Given the description of an element on the screen output the (x, y) to click on. 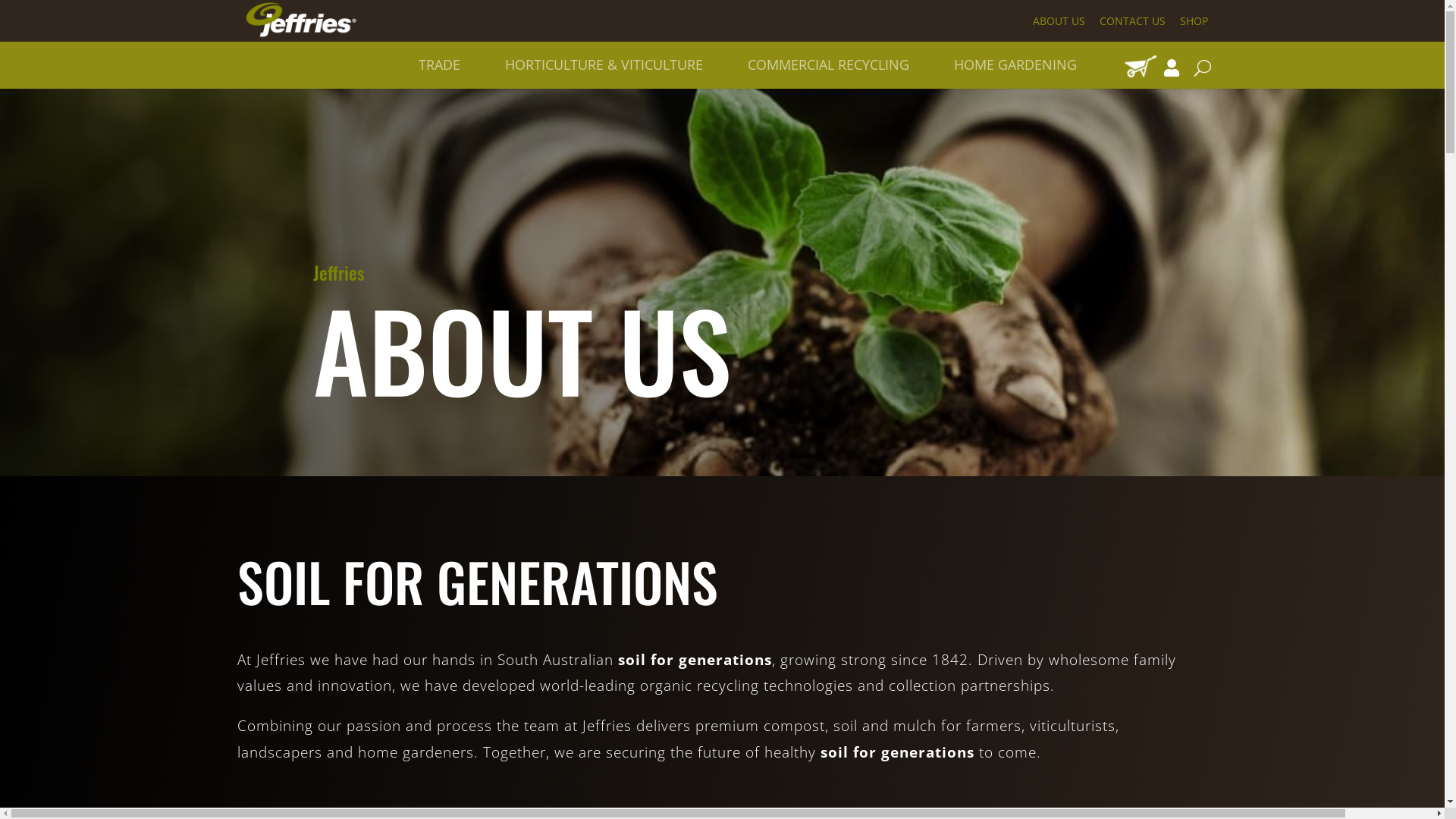
HOME GARDENING Element type: text (1015, 60)
HORTICULTURE & VITICULTURE Element type: text (603, 60)
TRADE Element type: text (439, 60)
SHOP Element type: text (1193, 23)
CONTACT US Element type: text (1132, 23)
ABOUT US Element type: text (1058, 23)
COMMERCIAL RECYCLING Element type: text (828, 60)
